Given the description of an element on the screen output the (x, y) to click on. 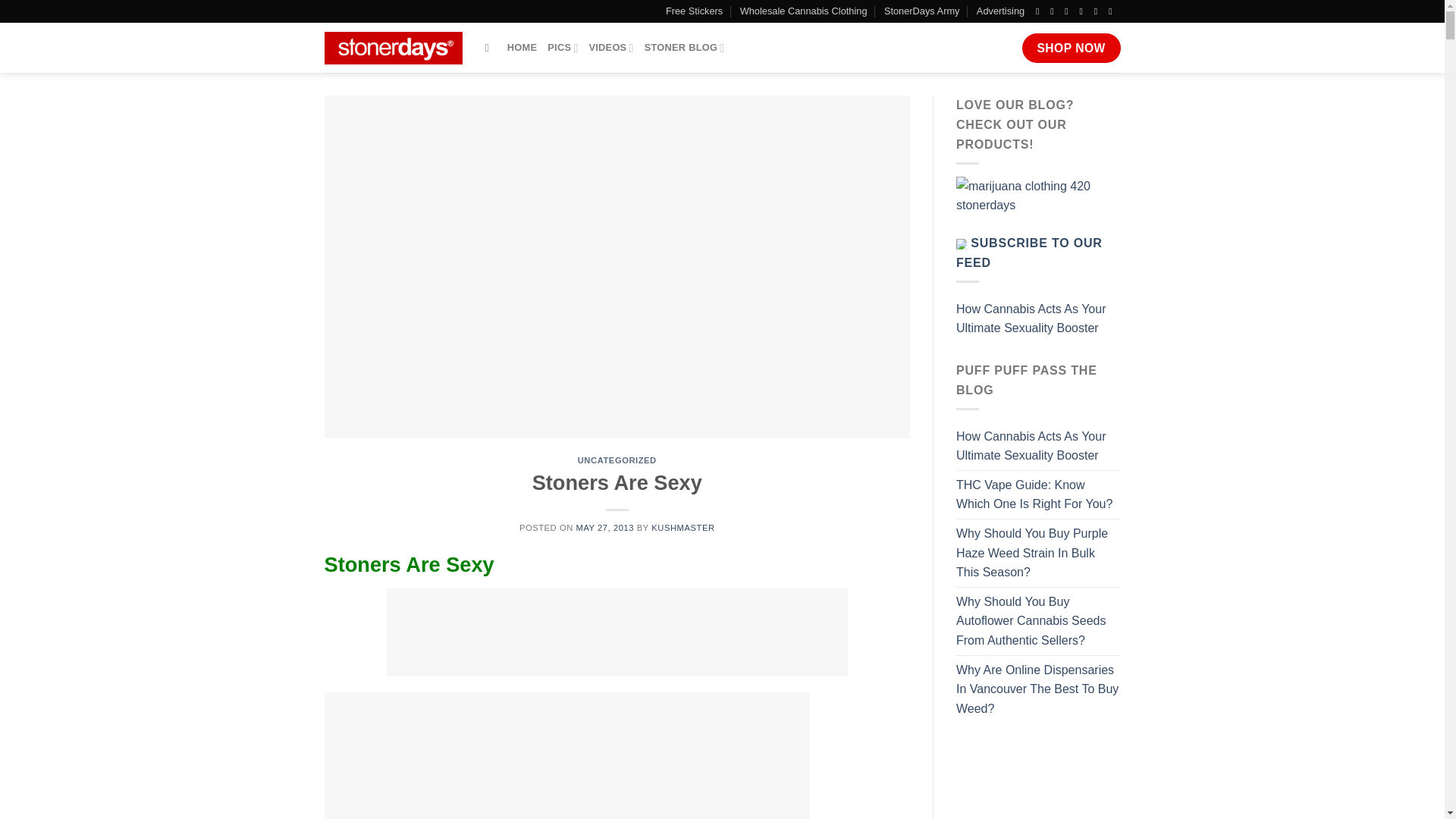
Advertising (1000, 11)
HOME (521, 47)
Wholesale Cannabis Clothing (803, 11)
STONER BLOG (685, 47)
Wholesale Cannabis Clothing (803, 11)
Free Stickers (693, 11)
PICS (562, 47)
StonerDays Army (921, 11)
VIDEOS (610, 47)
